Given the description of an element on the screen output the (x, y) to click on. 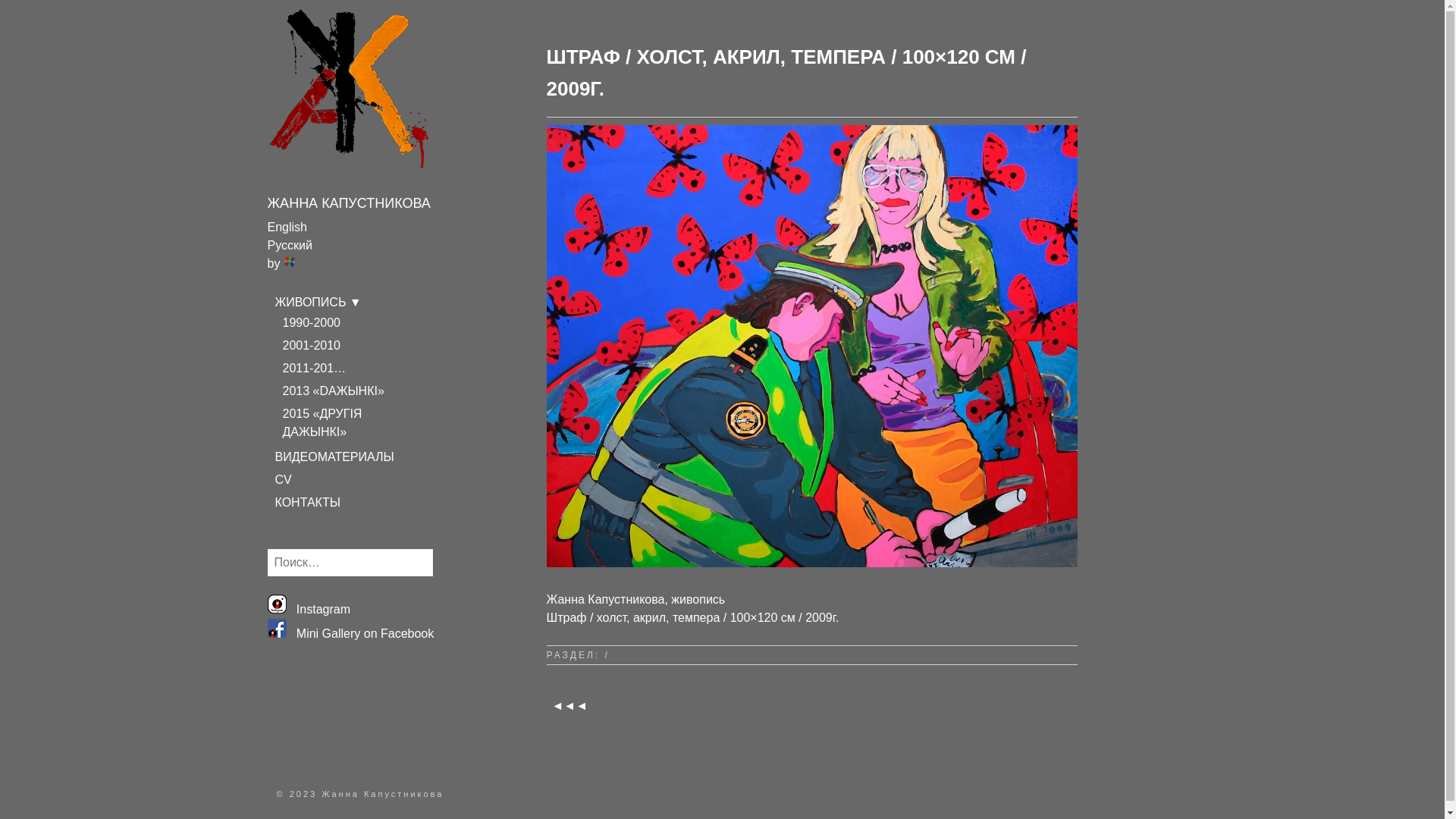
CV Element type: text (282, 479)
1990-2000 Element type: text (311, 322)
   Instagram Element type: text (307, 608)
English Element type: text (286, 226)
   Mini Gallery on Facebook Element type: text (349, 633)
Transposh - translation plugin for wordpress Element type: hover (289, 261)
2001-2010 Element type: text (311, 344)
